Given the description of an element on the screen output the (x, y) to click on. 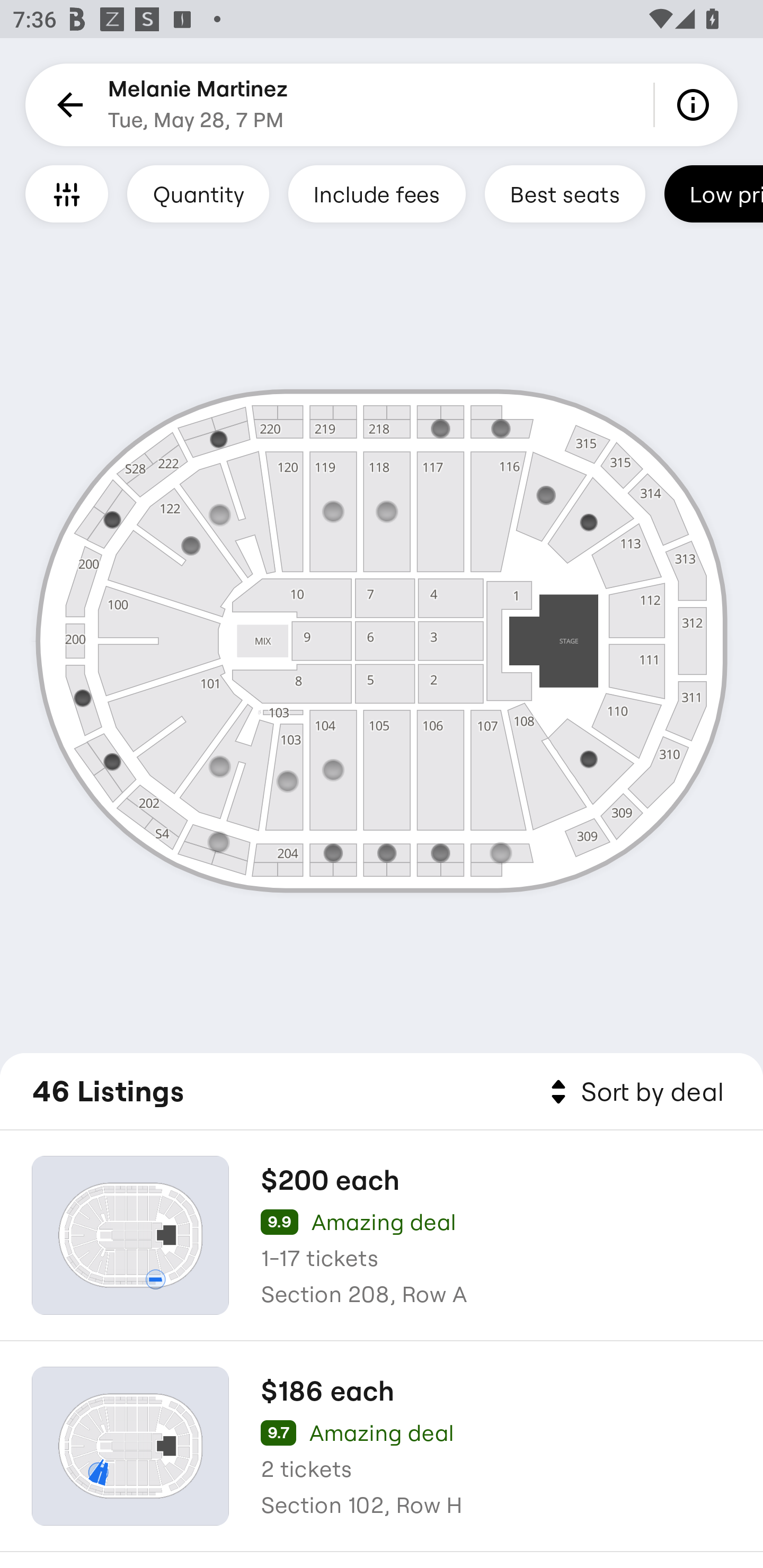
Back (66, 104)
Melanie Martinez Tue, May 28, 7 PM (198, 104)
Info (695, 104)
Filters and Accessible Seating (66, 193)
Quantity (198, 193)
Include fees (376, 193)
Best seats (564, 193)
Sort by deal (633, 1091)
